Given the description of an element on the screen output the (x, y) to click on. 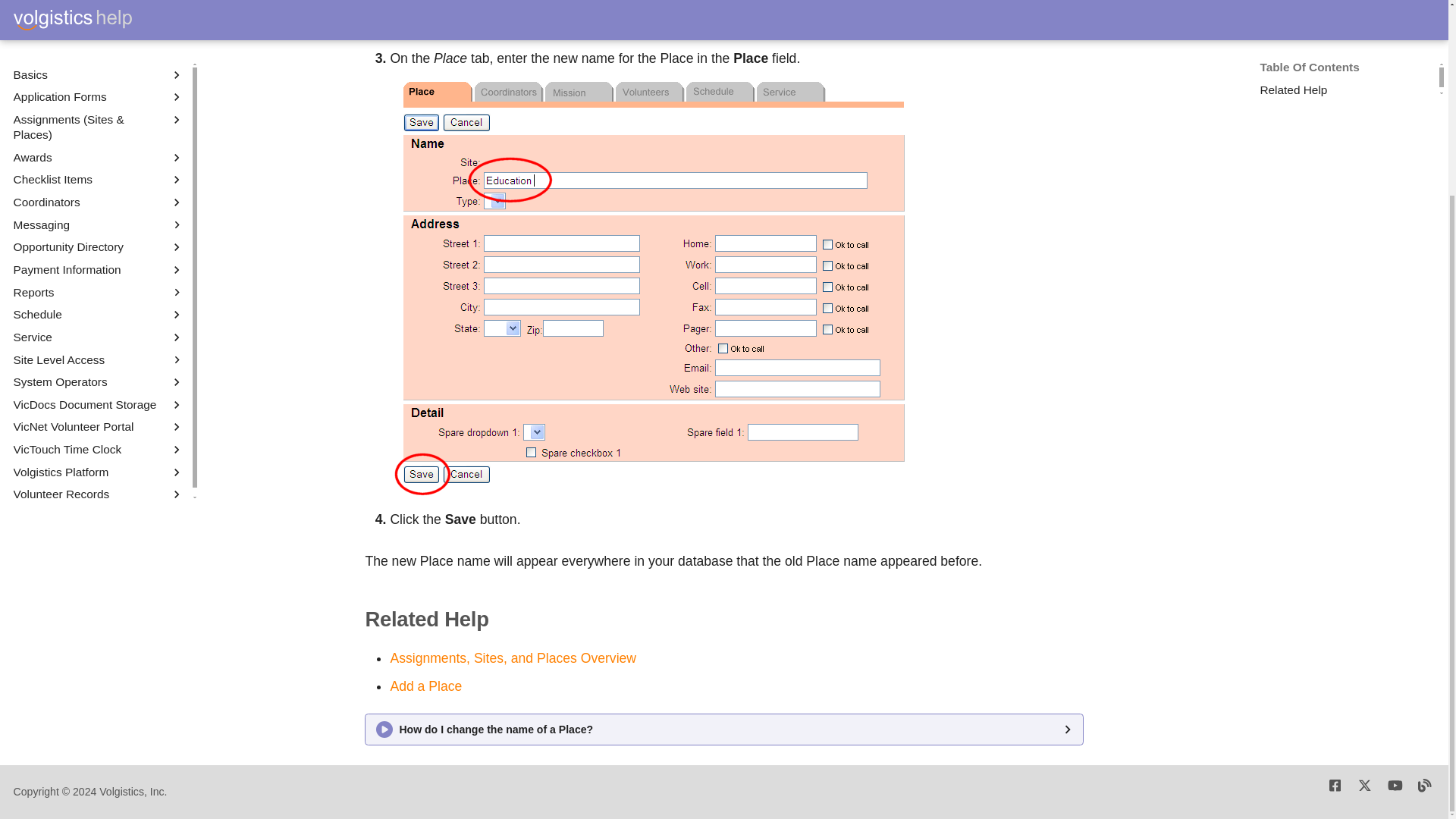
twitter.com (1364, 791)
www.youtube.com (1394, 791)
www.volgistics.com (1425, 791)
www.facebook.com (1335, 791)
